Given the description of an element on the screen output the (x, y) to click on. 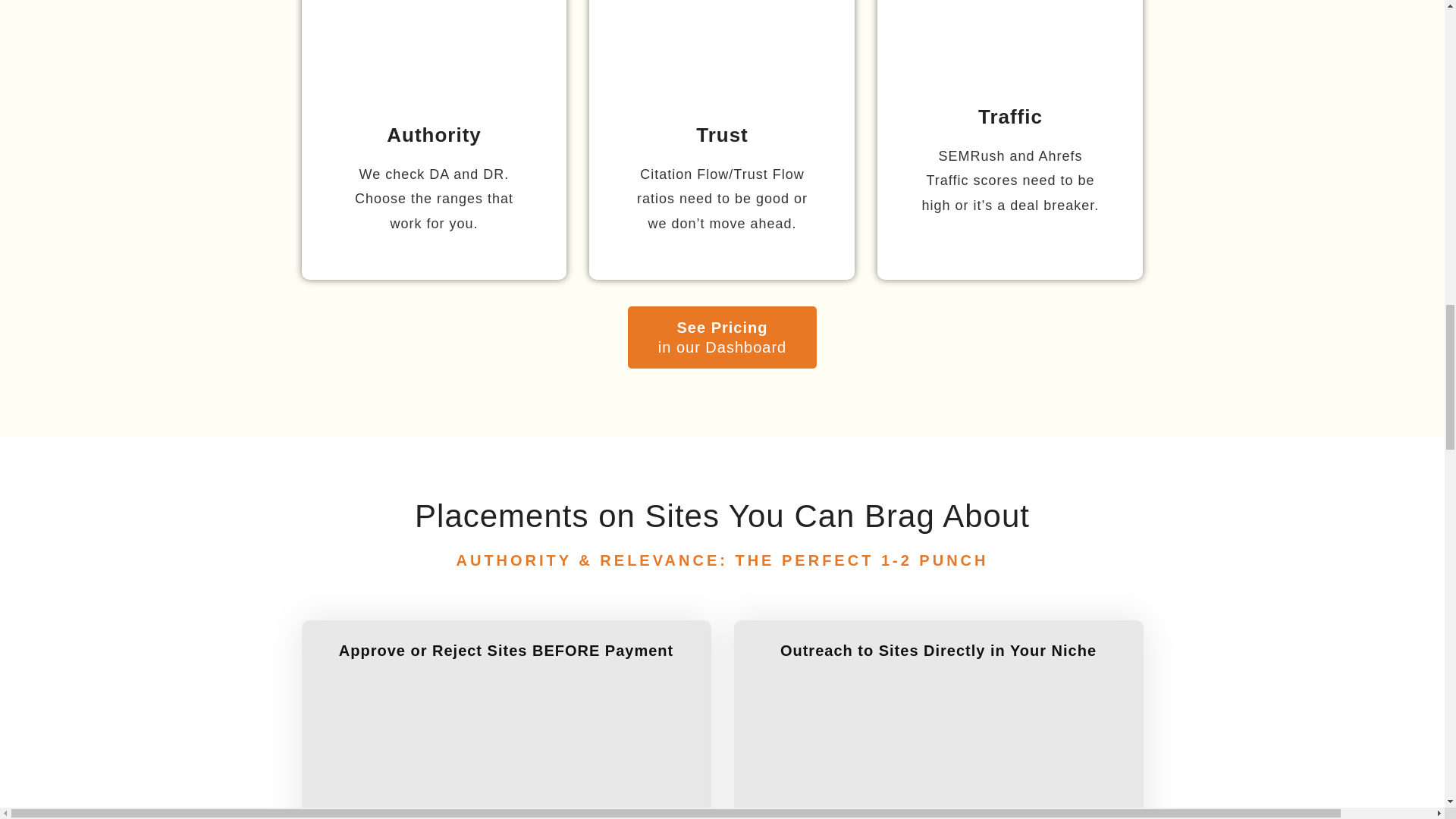
traffic-icon (1010, 45)
Link Building 7 (505, 758)
authority-icon (433, 54)
trust-icon (721, 54)
